Given the description of an element on the screen output the (x, y) to click on. 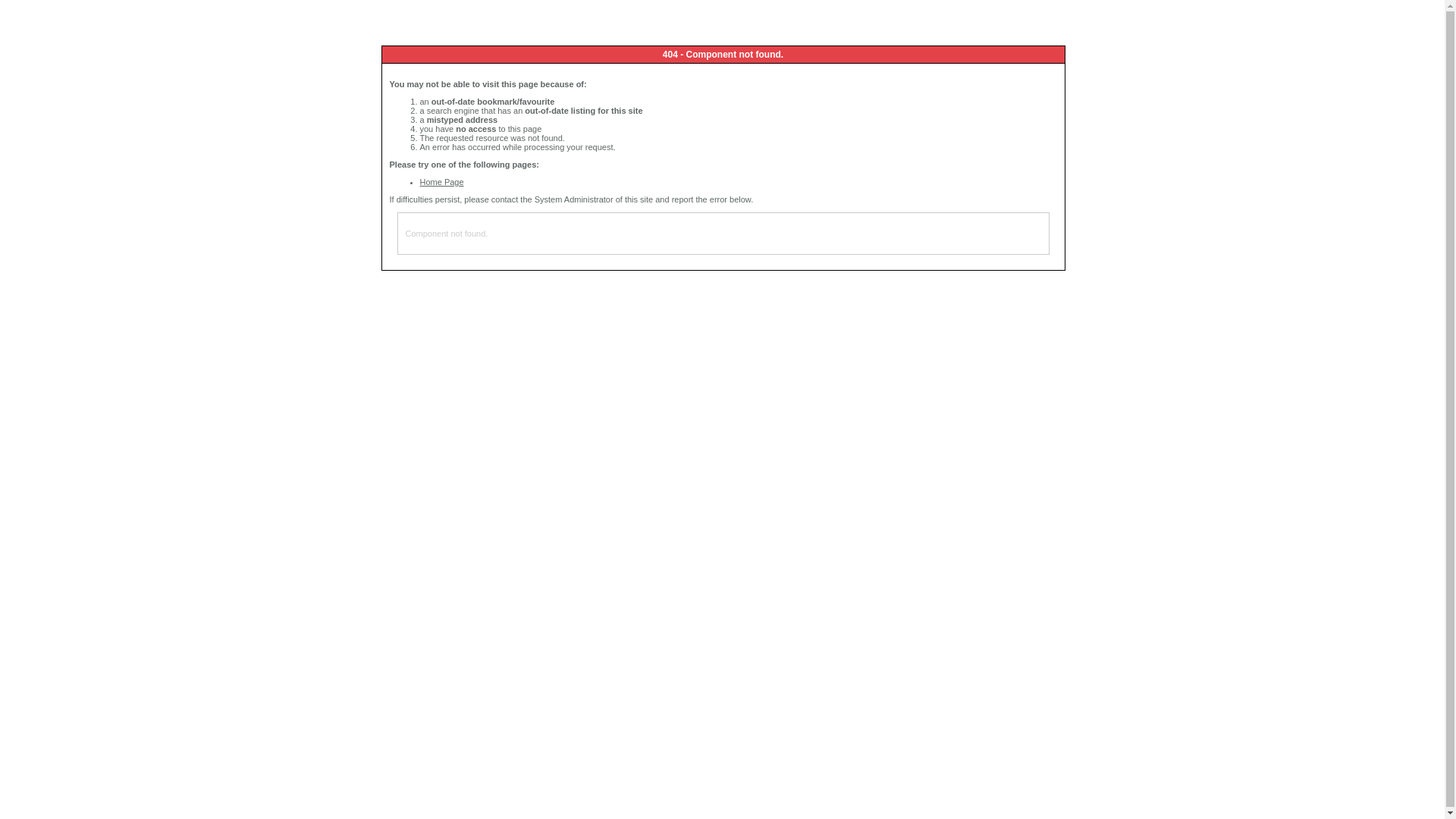
Home Page Element type: text (442, 181)
